Given the description of an element on the screen output the (x, y) to click on. 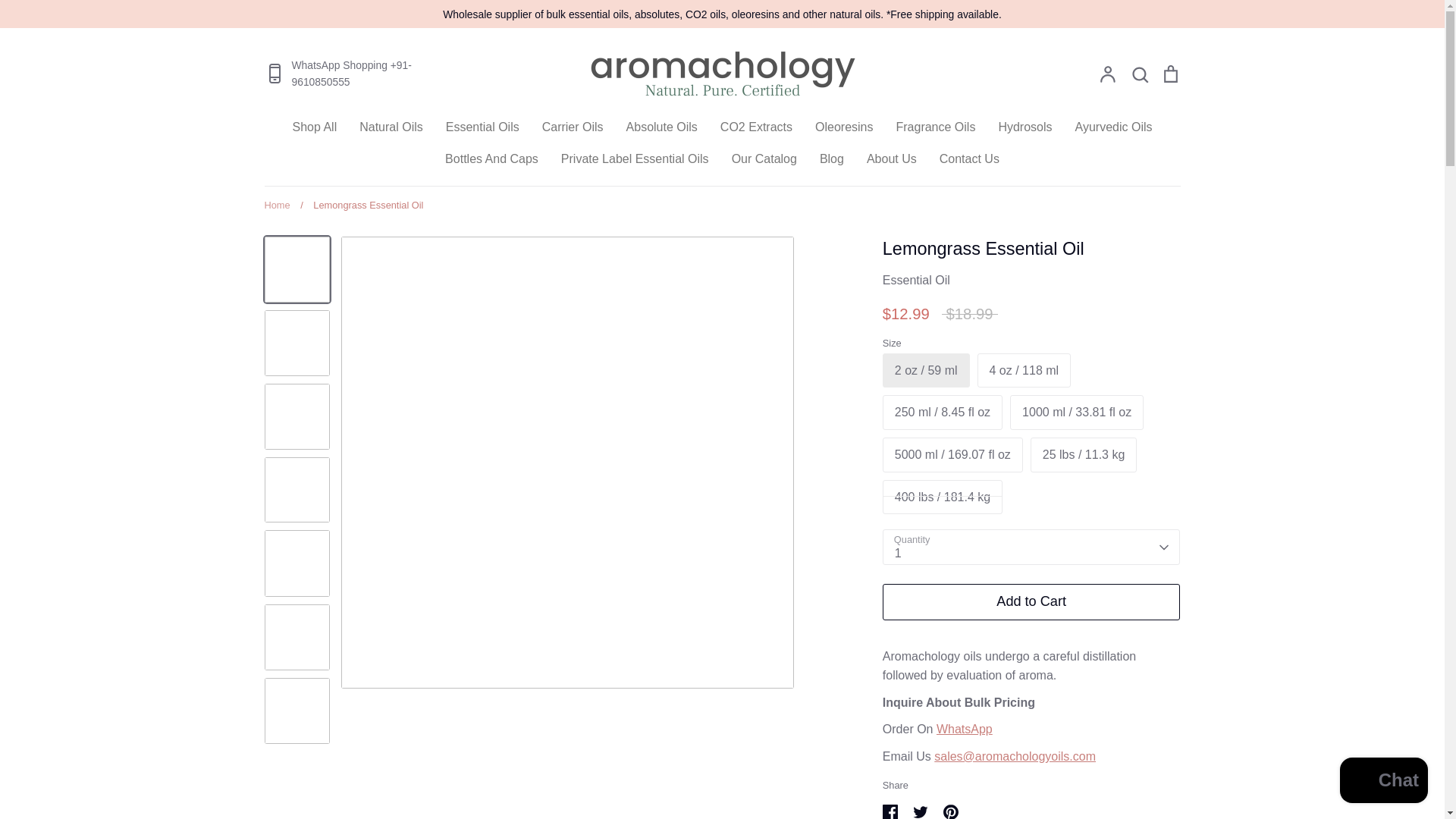
Carrier Oils (572, 126)
Cart (1169, 73)
Absolute Oils (661, 126)
Order On WhatsApp (964, 728)
Essential Oils (482, 126)
Search (1139, 73)
Account (1107, 73)
Shop All (314, 126)
Natural Oils (391, 126)
CO2 Extracts (756, 126)
